Given the description of an element on the screen output the (x, y) to click on. 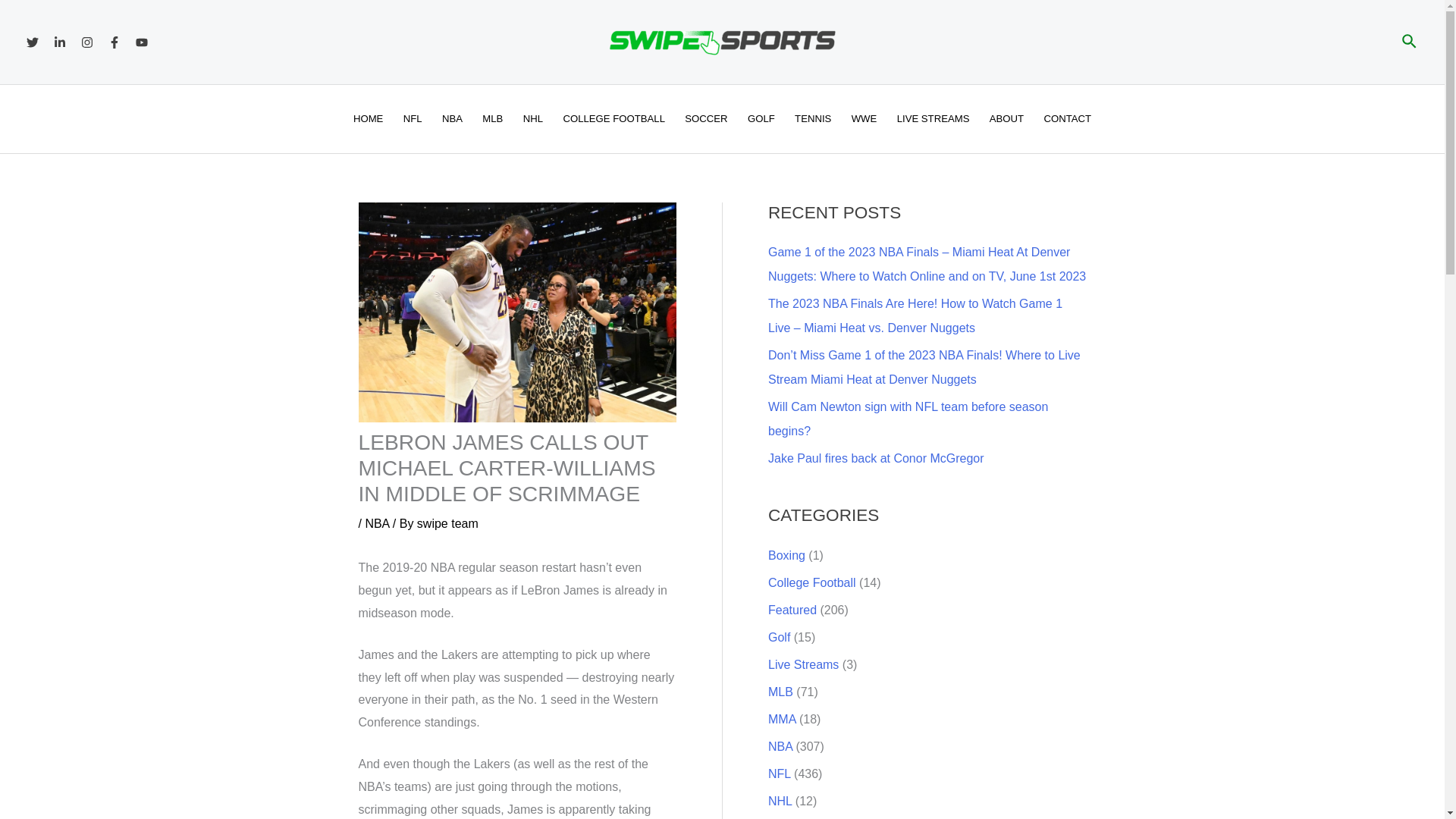
SOCCER (706, 118)
LIVE STREAMS (932, 118)
CONTACT (1066, 118)
NHL (533, 118)
NFL (412, 118)
TENNIS (812, 118)
View all posts by swipe team (447, 522)
WWE (863, 118)
NBA (451, 118)
COLLEGE FOOTBALL (614, 118)
NBA (376, 522)
swipe team (447, 522)
MLB (491, 118)
HOME (368, 118)
GOLF (761, 118)
